Given the description of an element on the screen output the (x, y) to click on. 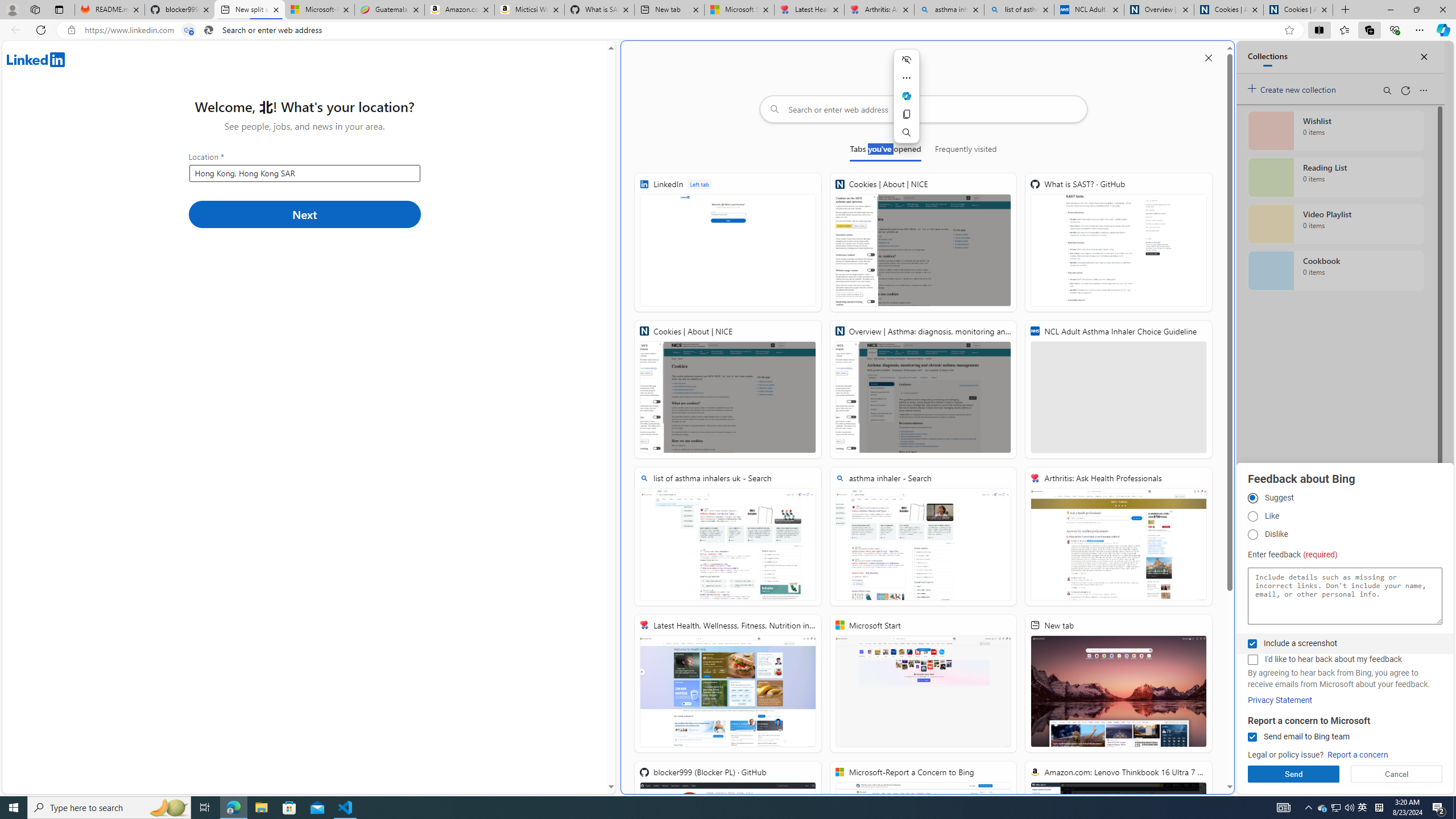
Copy (905, 113)
Tabs in split screen (189, 29)
LinkedIn (727, 242)
Arthritis: Ask Health Professionals (879, 9)
Arthritis: Ask Health Professionals (1118, 536)
asthma inhaler - Search (922, 536)
Mini menu on text selection (905, 95)
